Given the description of an element on the screen output the (x, y) to click on. 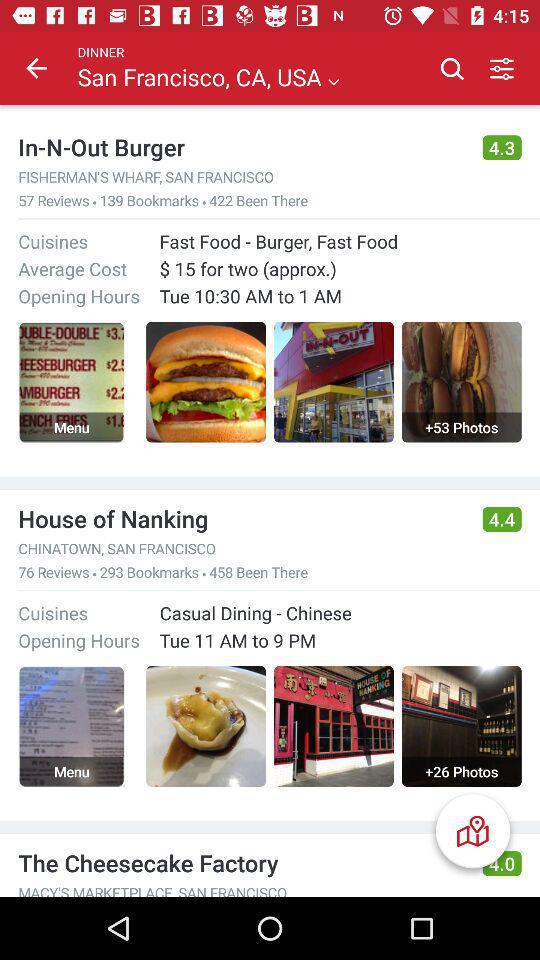
choose icon next to the 4.3 icon (241, 147)
